Given the description of an element on the screen output the (x, y) to click on. 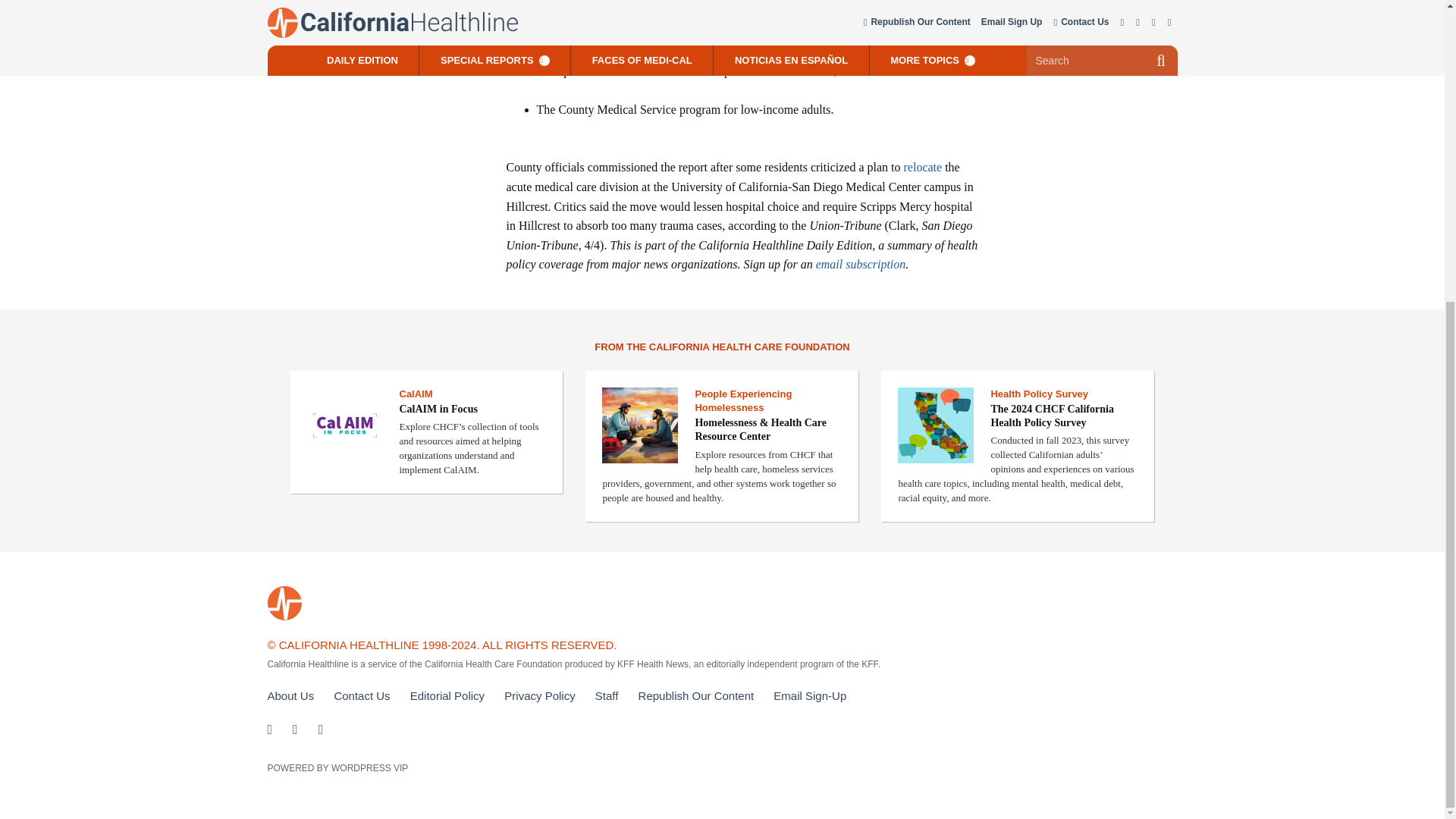
California Healthline (283, 602)
relocate (923, 166)
email subscription (860, 264)
